Given the description of an element on the screen output the (x, y) to click on. 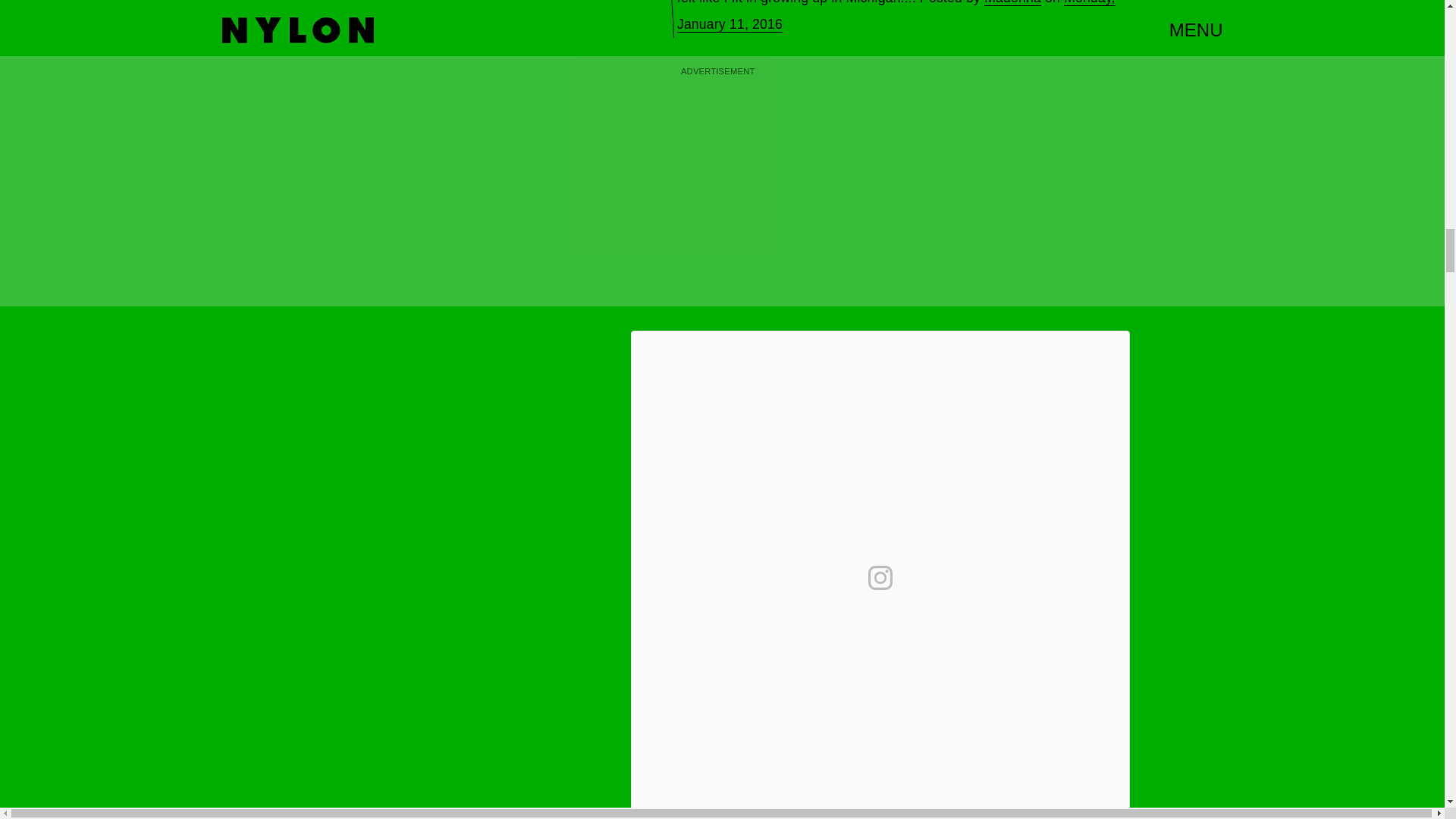
View on Instagram (879, 577)
Madonna (1012, 2)
Monday, January 11, 2016 (896, 16)
